Given the description of an element on the screen output the (x, y) to click on. 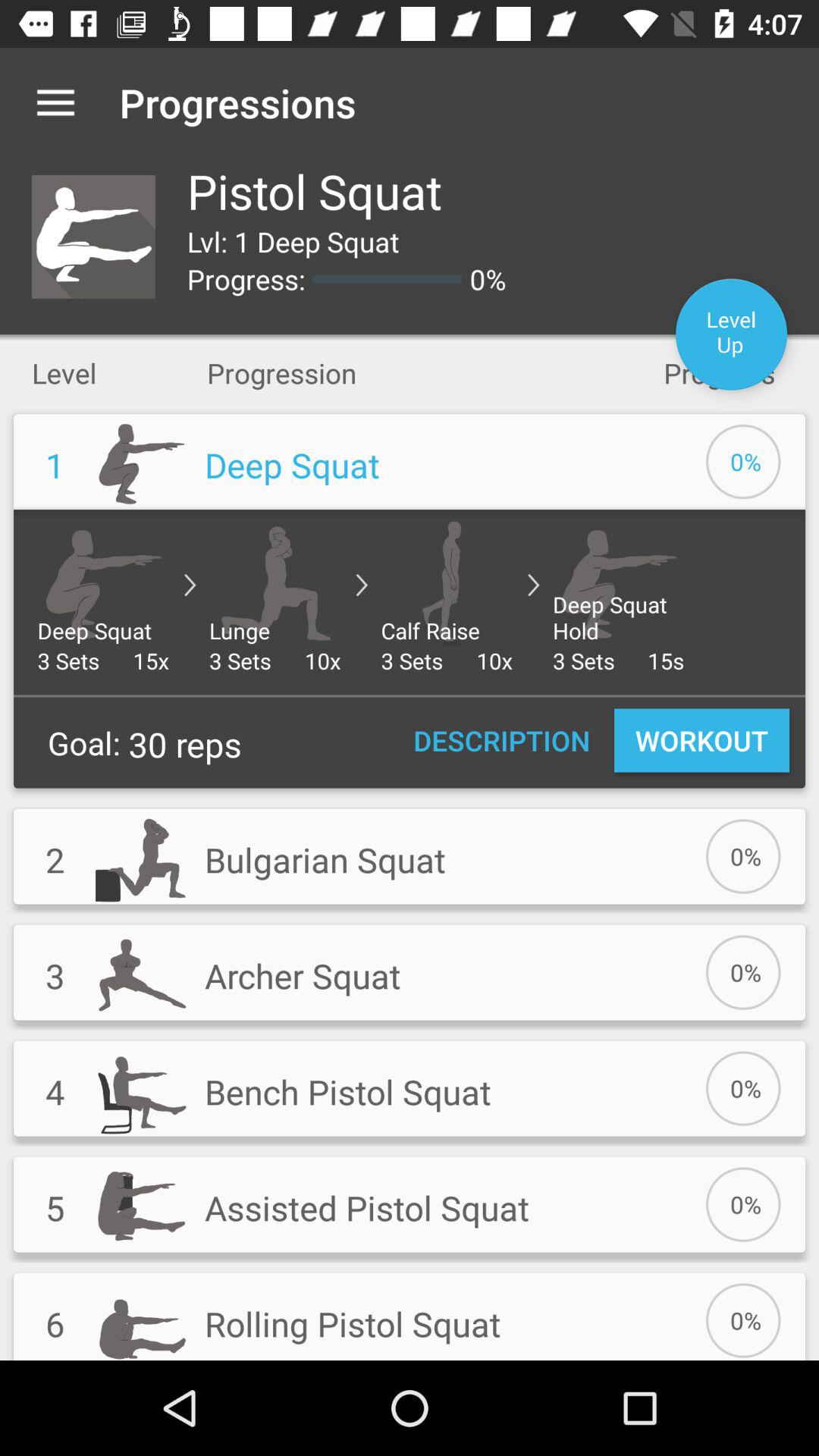
turn off app to the left of the progressions app (55, 102)
